Given the description of an element on the screen output the (x, y) to click on. 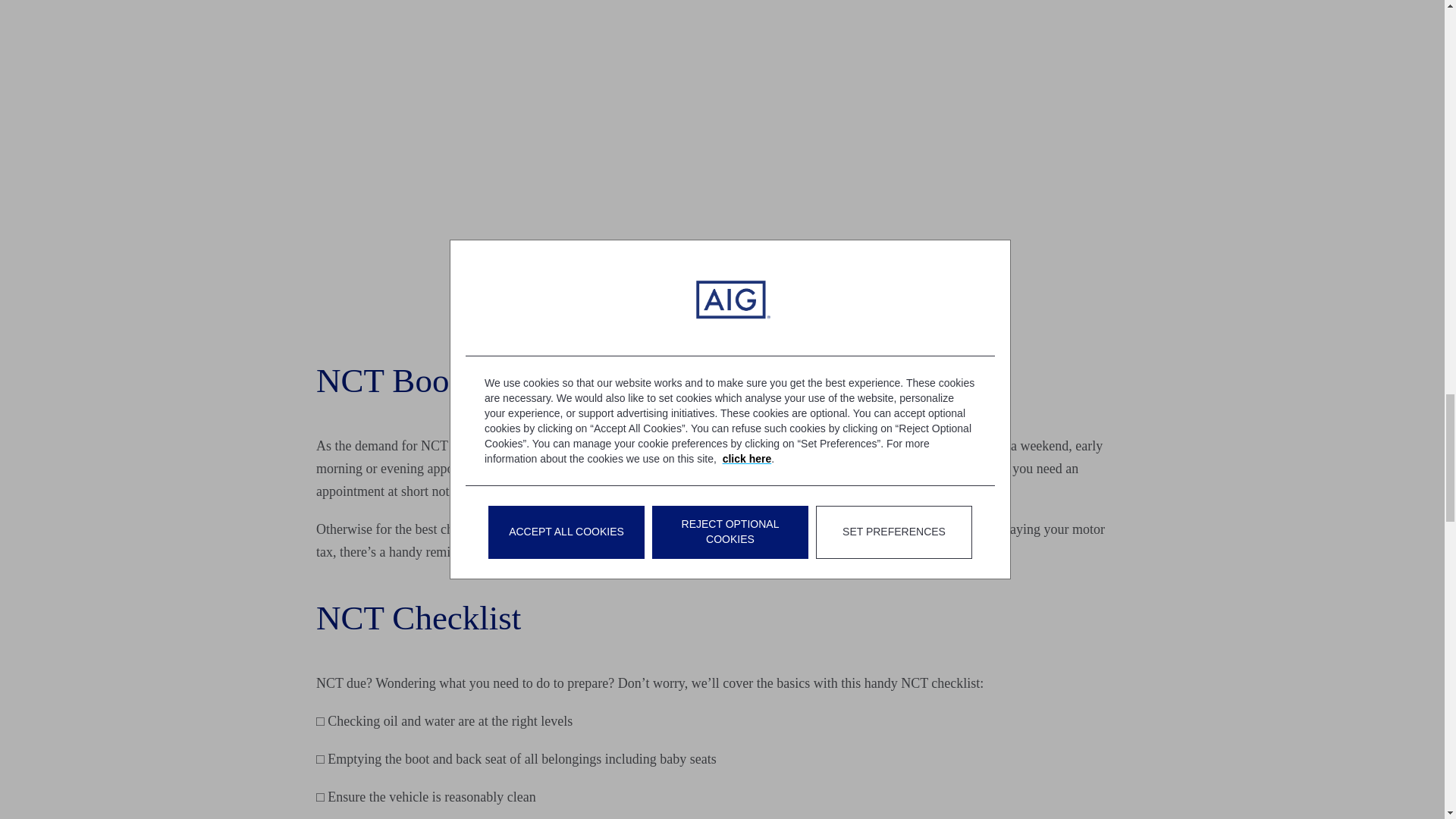
Motor Tax Online (543, 551)
